Given the description of an element on the screen output the (x, y) to click on. 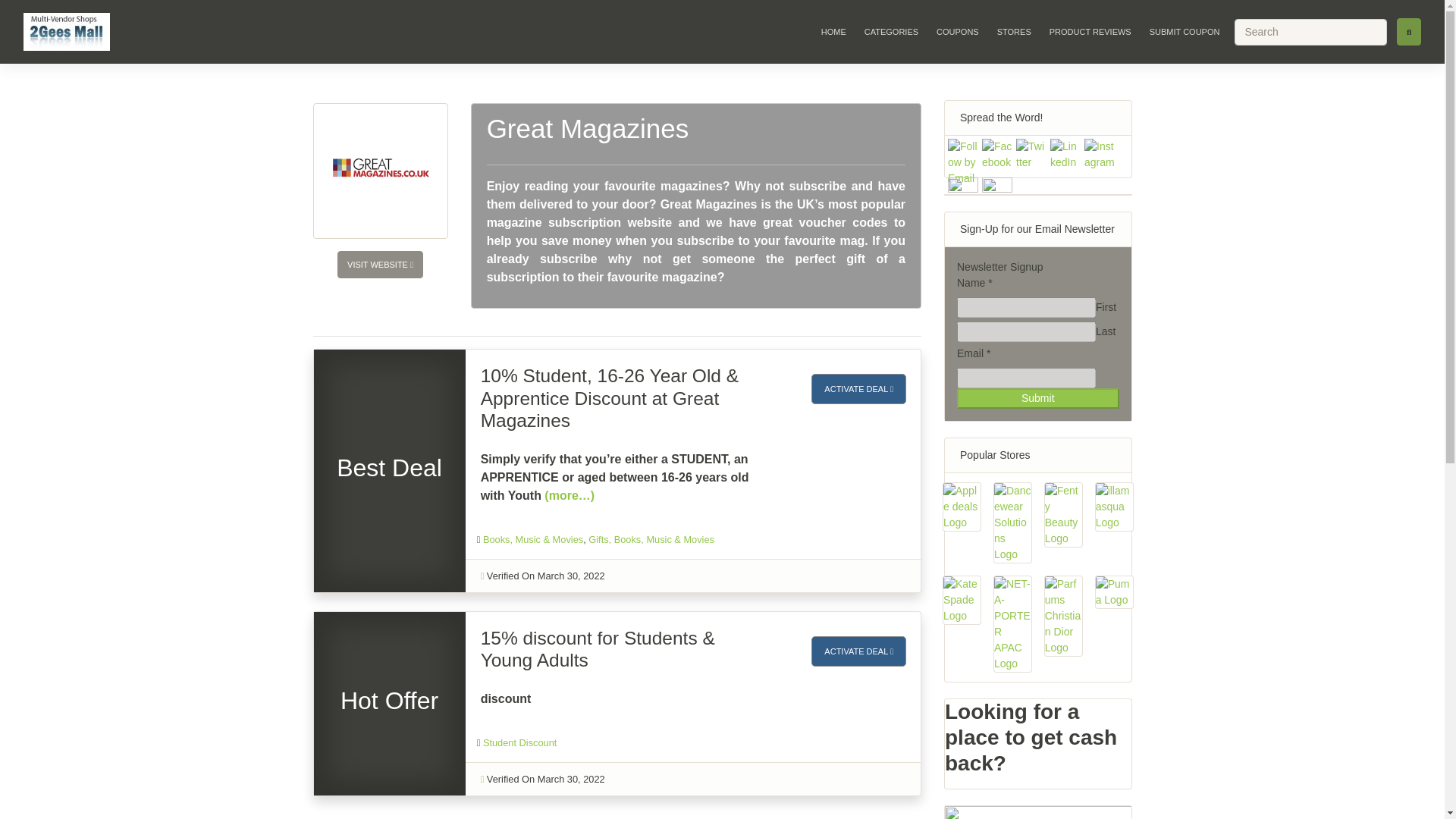
Instagram (1099, 154)
PRODUCT REVIEWS (1090, 31)
Categories (891, 31)
STORES (1013, 31)
Coupons (957, 31)
Twitter (1031, 154)
Home (833, 31)
LinkedIn (1064, 154)
COUPONS (957, 31)
Facebook (996, 154)
